Given the description of an element on the screen output the (x, y) to click on. 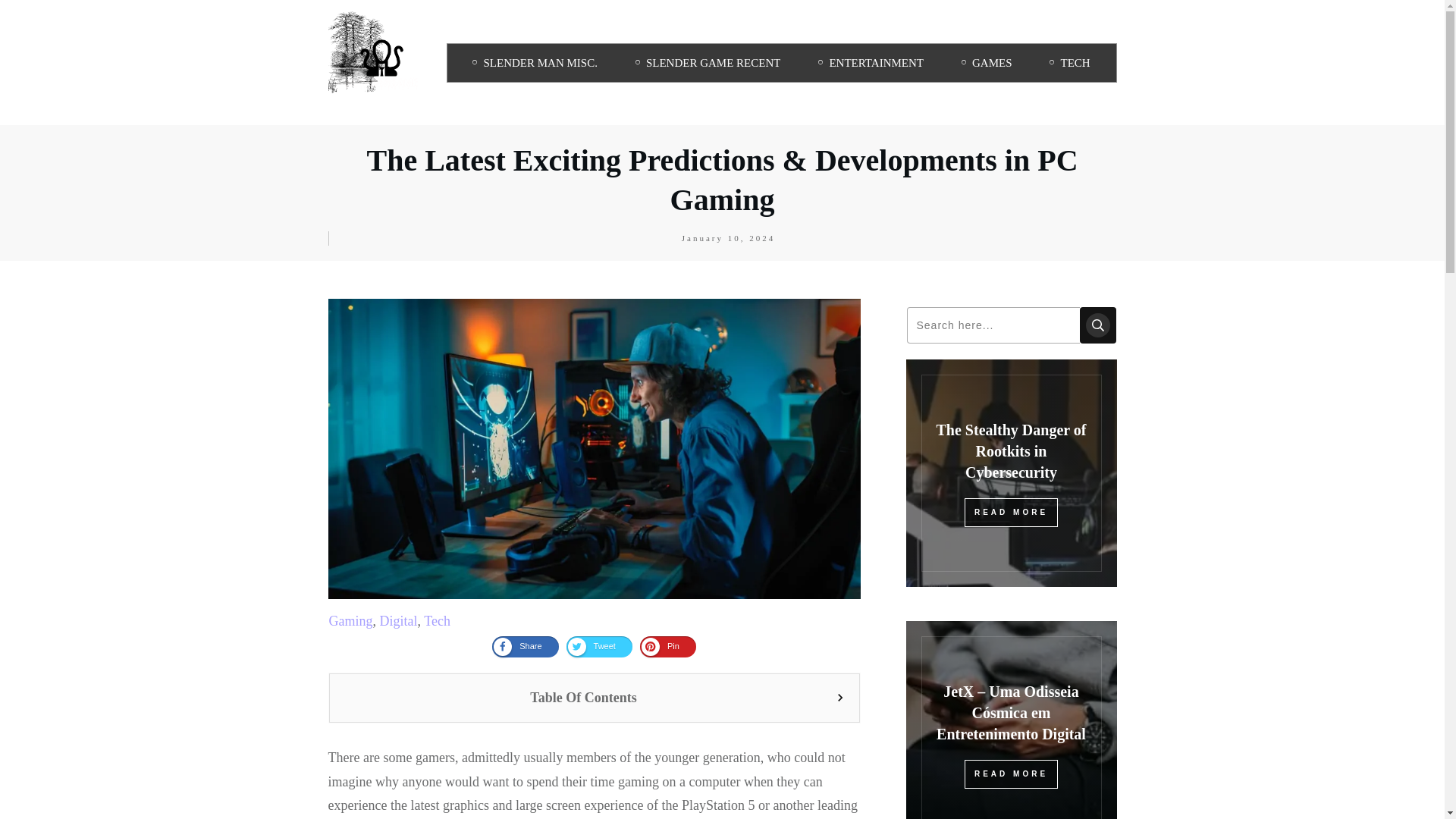
Gaming (350, 620)
Digital (397, 620)
ENTERTAINMENT (870, 62)
Digital (397, 620)
Tech (436, 620)
Tech (436, 620)
SLENDER GAME RECENT (707, 62)
Tweet (598, 646)
Gaming (350, 620)
READ MORE (1010, 512)
